Given the description of an element on the screen output the (x, y) to click on. 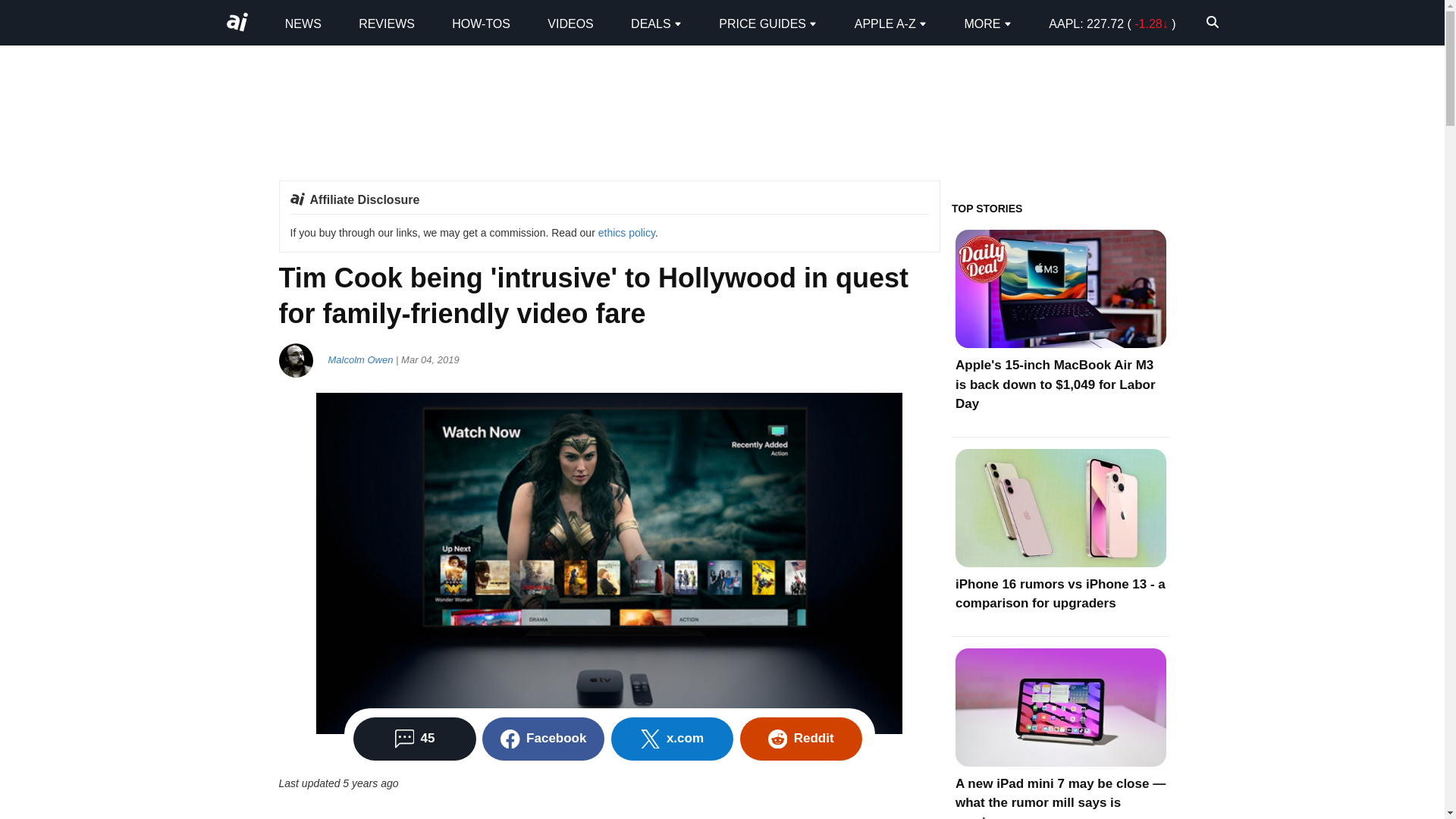
HOW-TOS (481, 23)
NEWS (303, 23)
News (303, 23)
Reviews (386, 23)
REVIEWS (386, 23)
VIDEOS (569, 23)
Videos (569, 23)
How-Tos (481, 23)
